Given the description of an element on the screen output the (x, y) to click on. 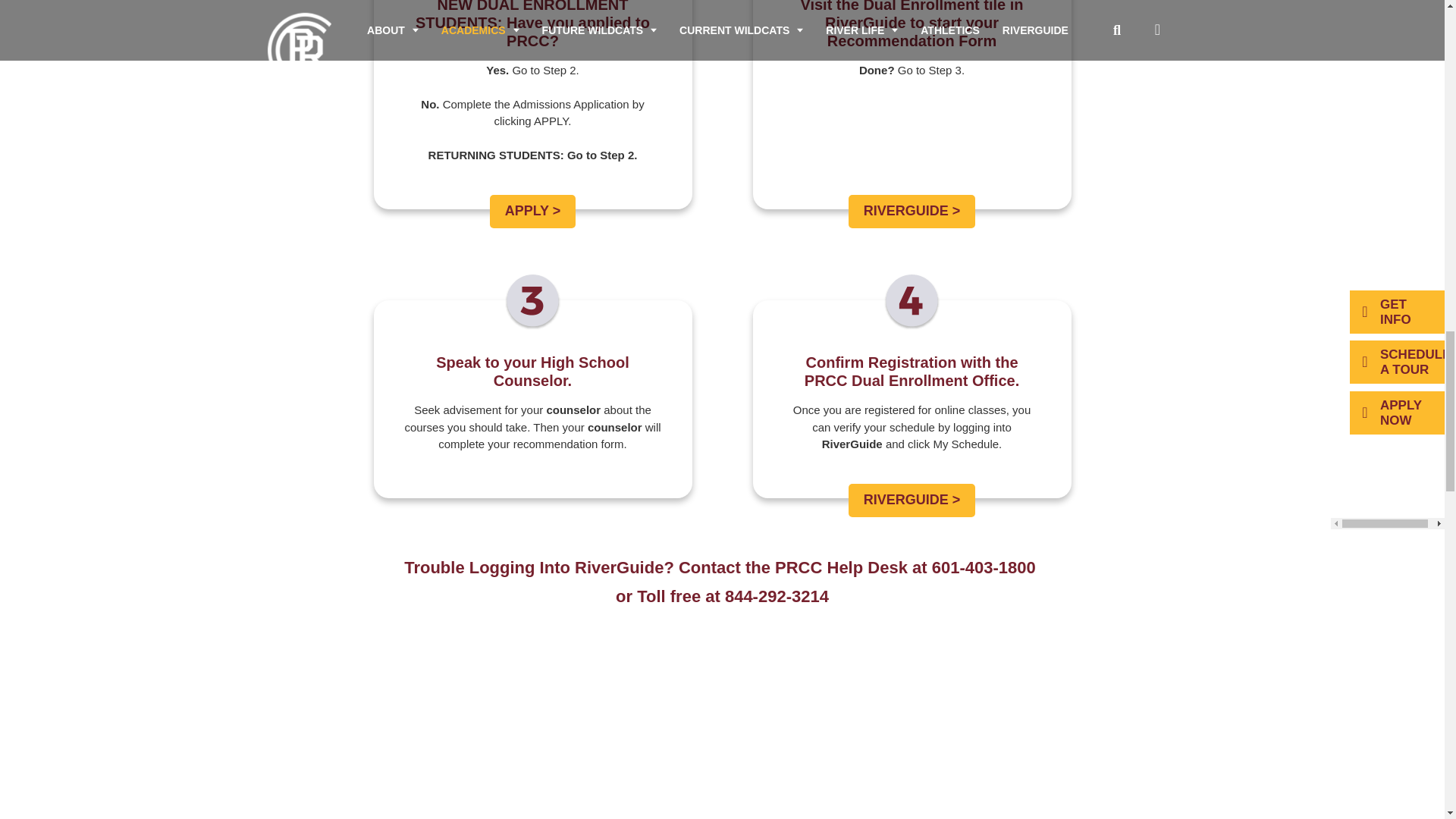
step-3-150 (531, 301)
step-4-150 (911, 301)
